Given the description of an element on the screen output the (x, y) to click on. 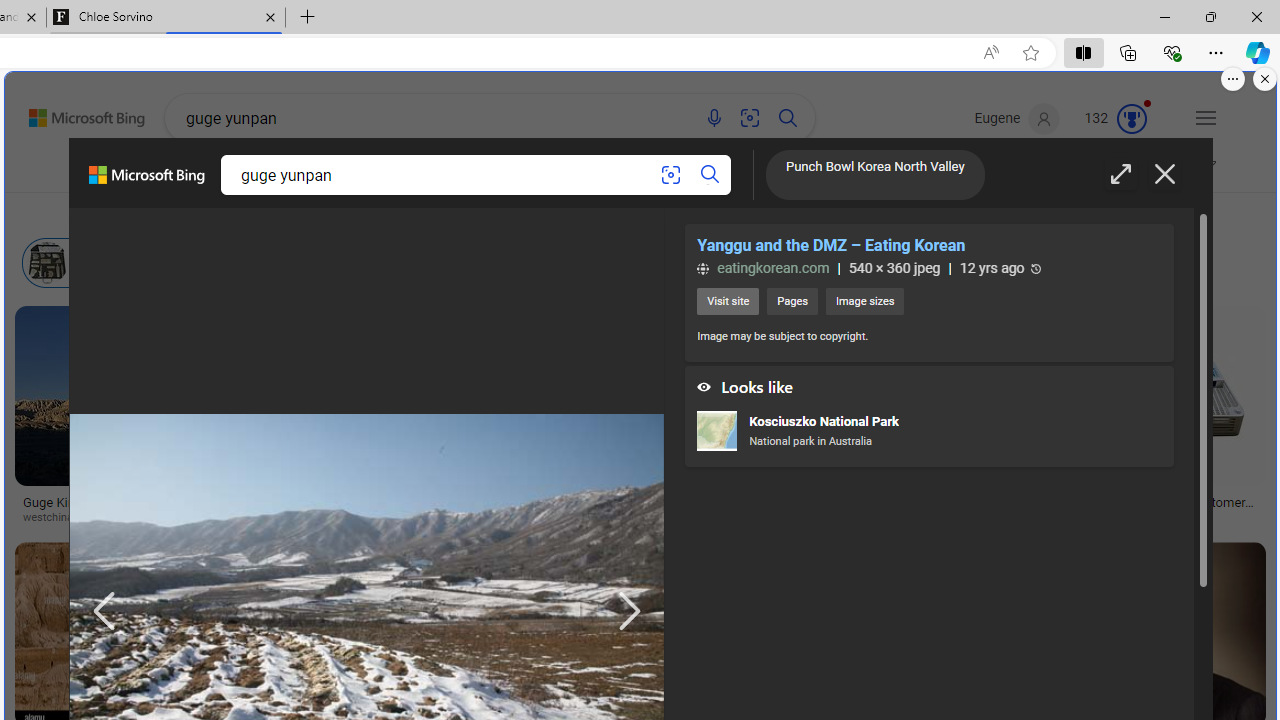
westchinago.com (73, 517)
Full screen (1119, 173)
Microsoft Rewards 132 (1117, 119)
Layout (443, 213)
Micrometer (657, 263)
COPILOT (305, 173)
Digital Caliper (338, 262)
